Given the description of an element on the screen output the (x, y) to click on. 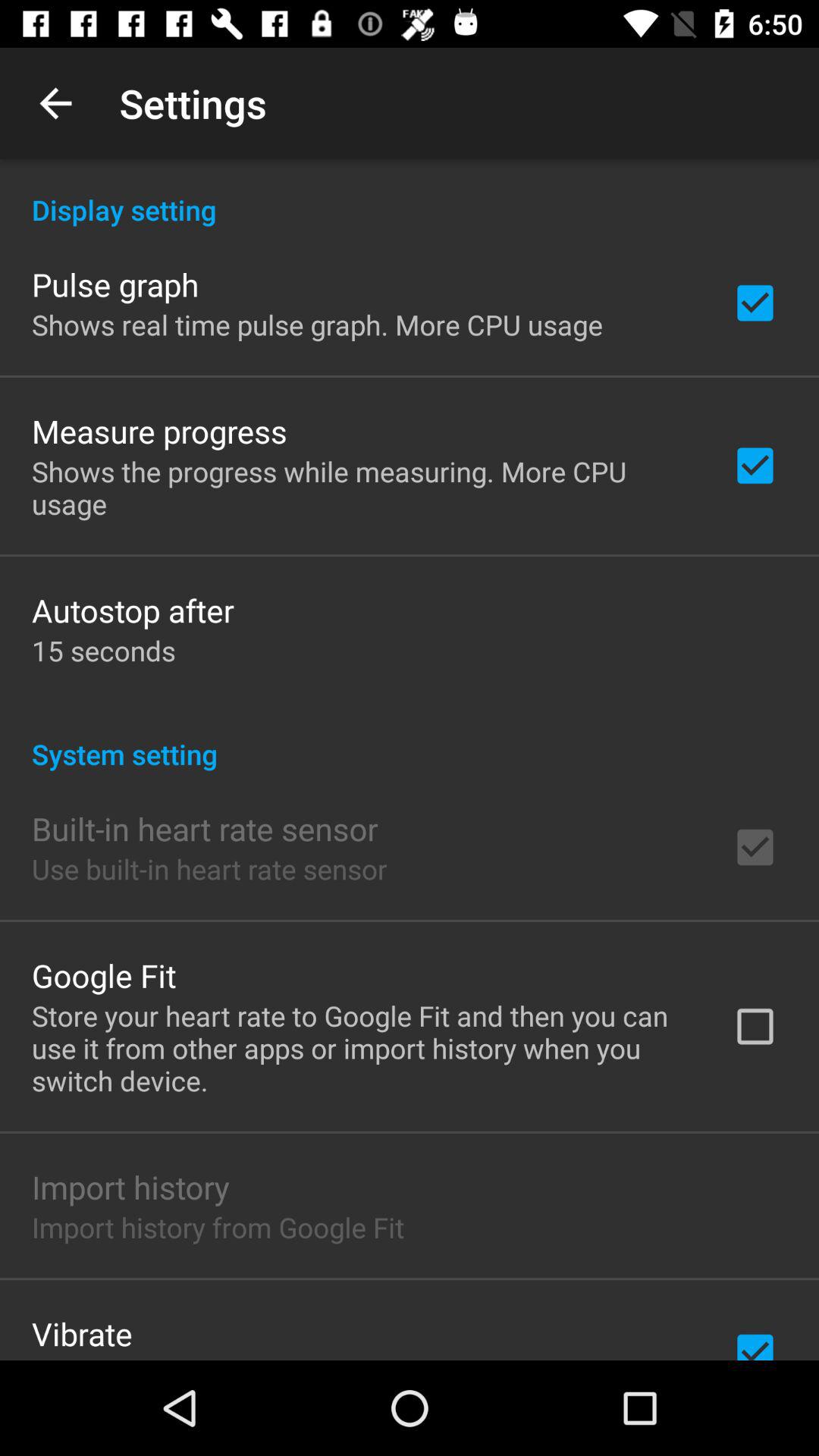
tap icon below the vibrate icon (238, 1357)
